Given the description of an element on the screen output the (x, y) to click on. 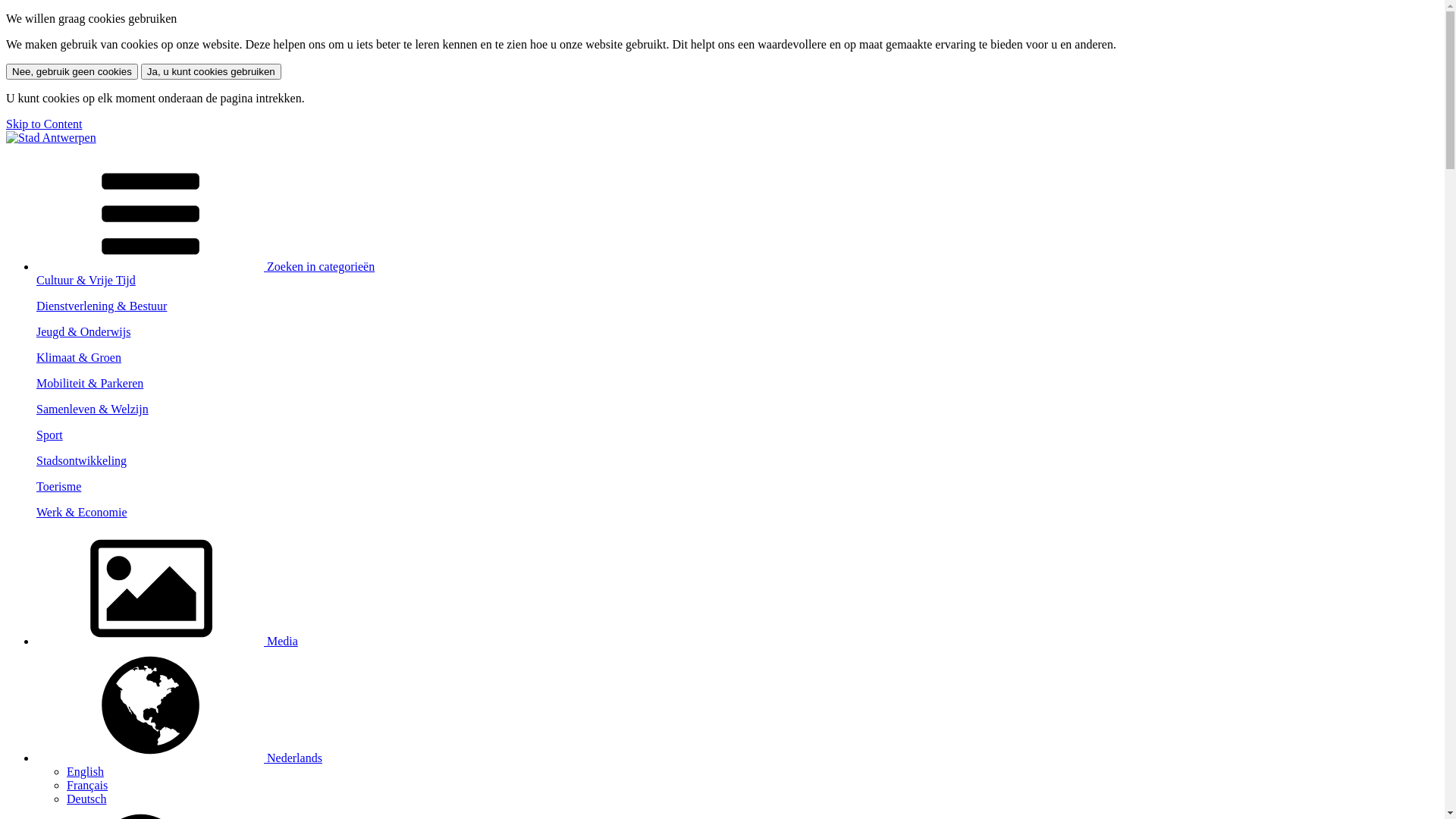
Dienstverlening & Bestuur Element type: text (737, 312)
Media Element type: text (167, 640)
Stad Antwerpen Element type: hover (51, 137)
Sport Element type: text (737, 441)
Skip to Content Element type: text (43, 123)
Samenleven & Welzijn Element type: text (737, 415)
Deutsch Element type: text (86, 798)
Cultuur & Vrije Tijd Element type: text (737, 286)
Werk & Economie Element type: text (737, 518)
Nee, gebruik geen cookies Element type: text (72, 71)
Mobiliteit & Parkeren Element type: text (737, 389)
English Element type: text (84, 771)
Klimaat & Groen Element type: text (737, 363)
Nederlands Element type: text (179, 757)
Toerisme Element type: text (737, 492)
Stadsontwikkeling Element type: text (737, 467)
Ja, u kunt cookies gebruiken Element type: text (211, 71)
Jeugd & Onderwijs Element type: text (737, 338)
